Given the description of an element on the screen output the (x, y) to click on. 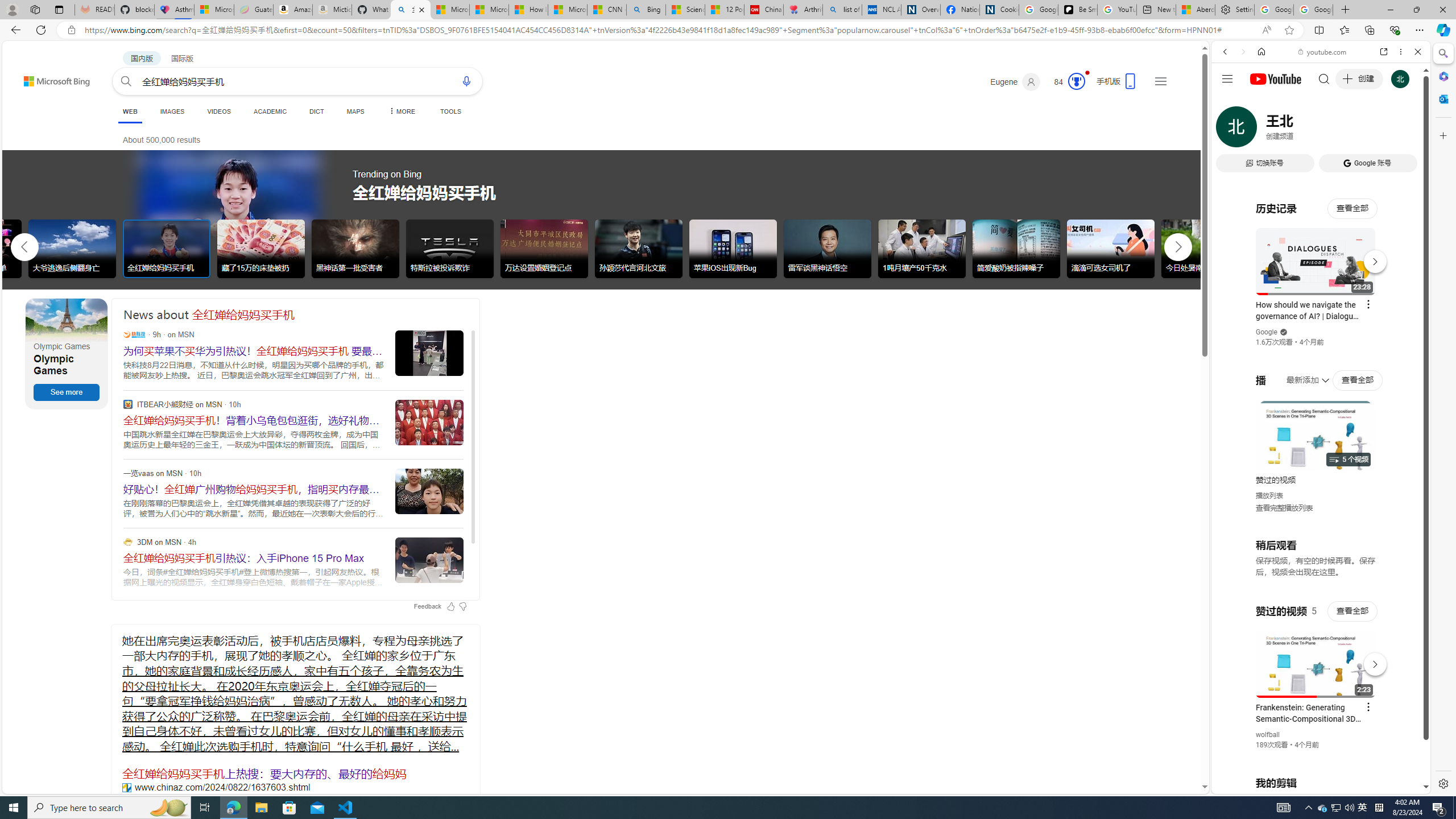
list of asthma inhalers uk - Search (842, 9)
youtube.com (1322, 51)
MAPS (355, 111)
wolfball (1268, 734)
Back to Bing search (50, 78)
Search Filter, VIDEOS (1300, 129)
you (1315, 755)
NCL Adult Asthma Inhaler Choice Guideline (881, 9)
